Given the description of an element on the screen output the (x, y) to click on. 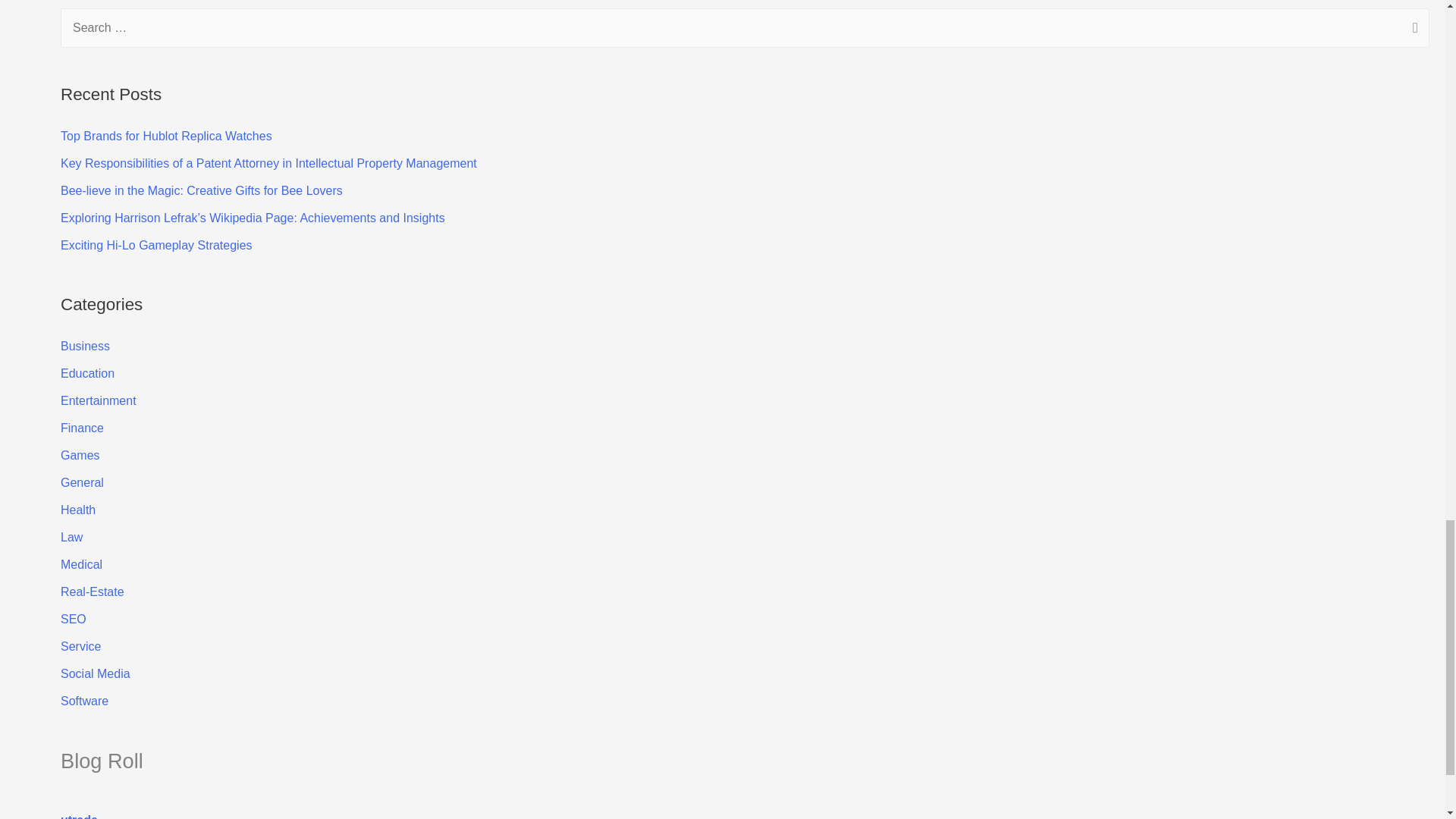
Top Brands for Hublot Replica Watches (166, 135)
Bee-lieve in the Magic: Creative Gifts for Bee Lovers (201, 190)
Business (85, 345)
General (82, 481)
Medical (81, 563)
SEO (73, 618)
Education (88, 373)
Exciting Hi-Lo Gameplay Strategies (156, 245)
Games (80, 454)
